Given the description of an element on the screen output the (x, y) to click on. 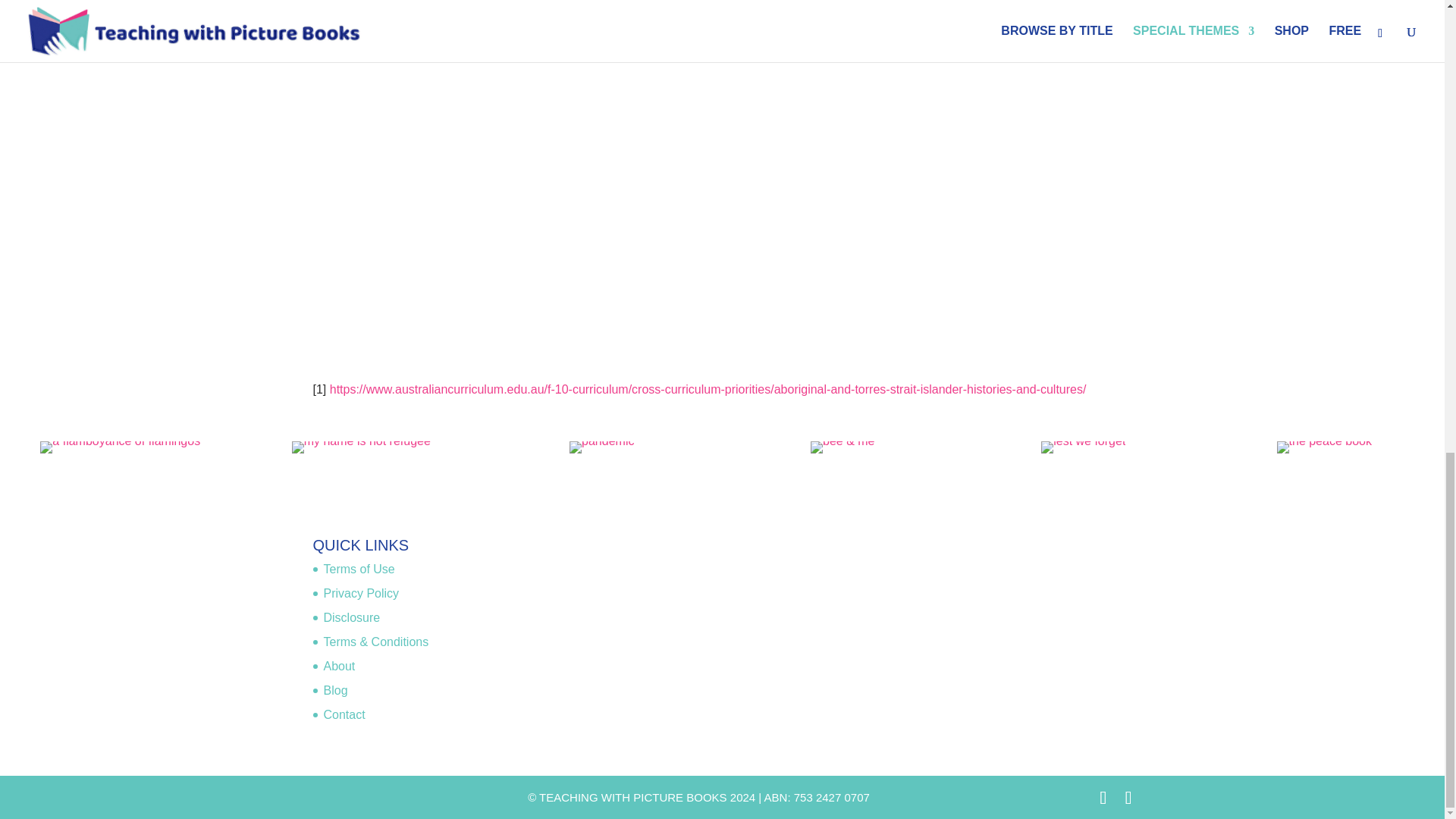
the-peace-book (1323, 447)
Terms of Use (358, 568)
lestweforget (1083, 447)
beeandme (842, 447)
PANDEMIC (601, 447)
The Apology (937, 169)
aflamboyanceofflamingos (120, 447)
About (339, 666)
mynameisnotrefugeebook (361, 447)
Contact (344, 714)
Disclosure (351, 617)
Intergenerational Trauma Animation (505, 92)
Blog (335, 689)
Privacy Policy (360, 593)
